Given the description of an element on the screen output the (x, y) to click on. 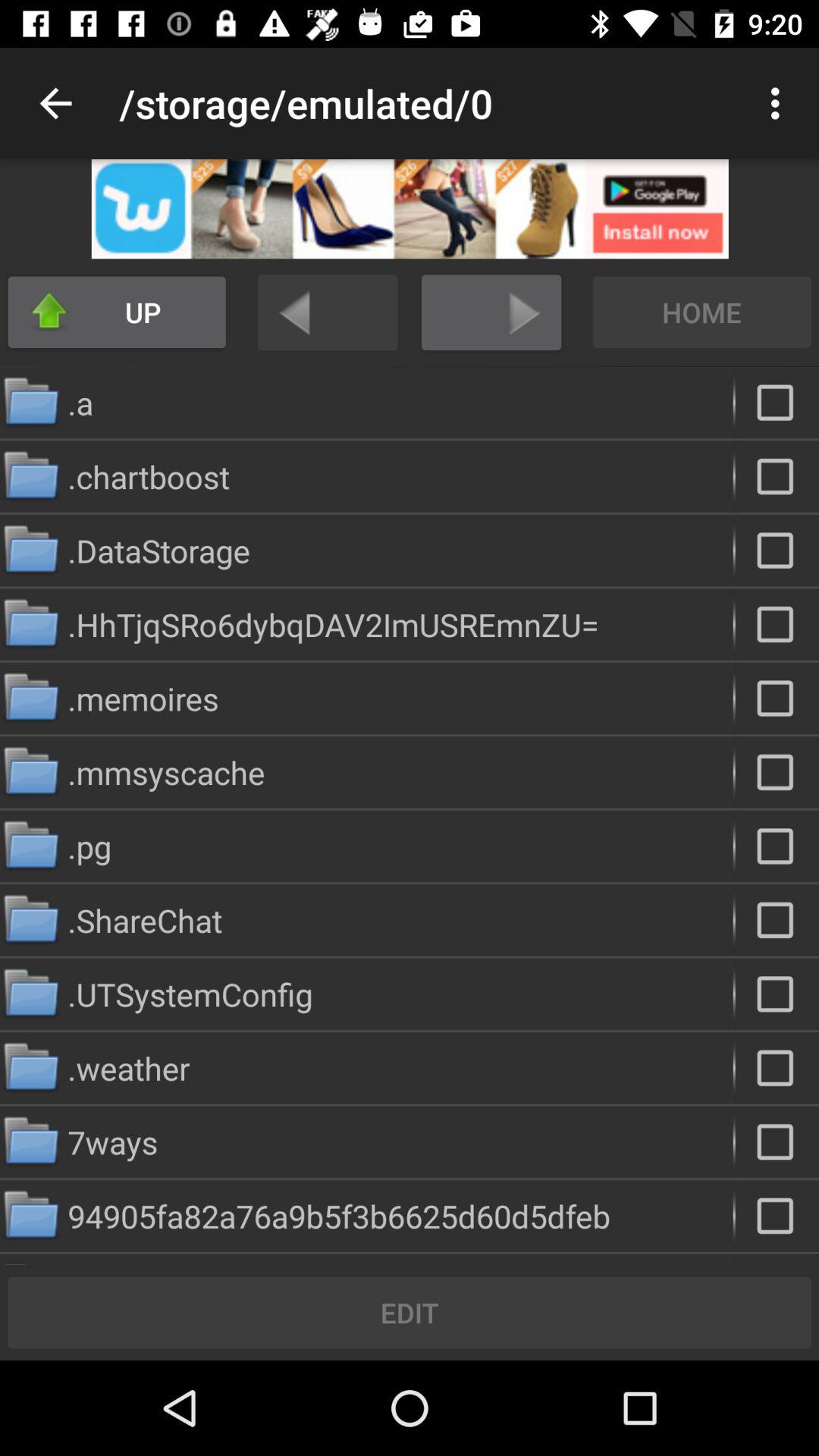
select file (777, 698)
